Given the description of an element on the screen output the (x, y) to click on. 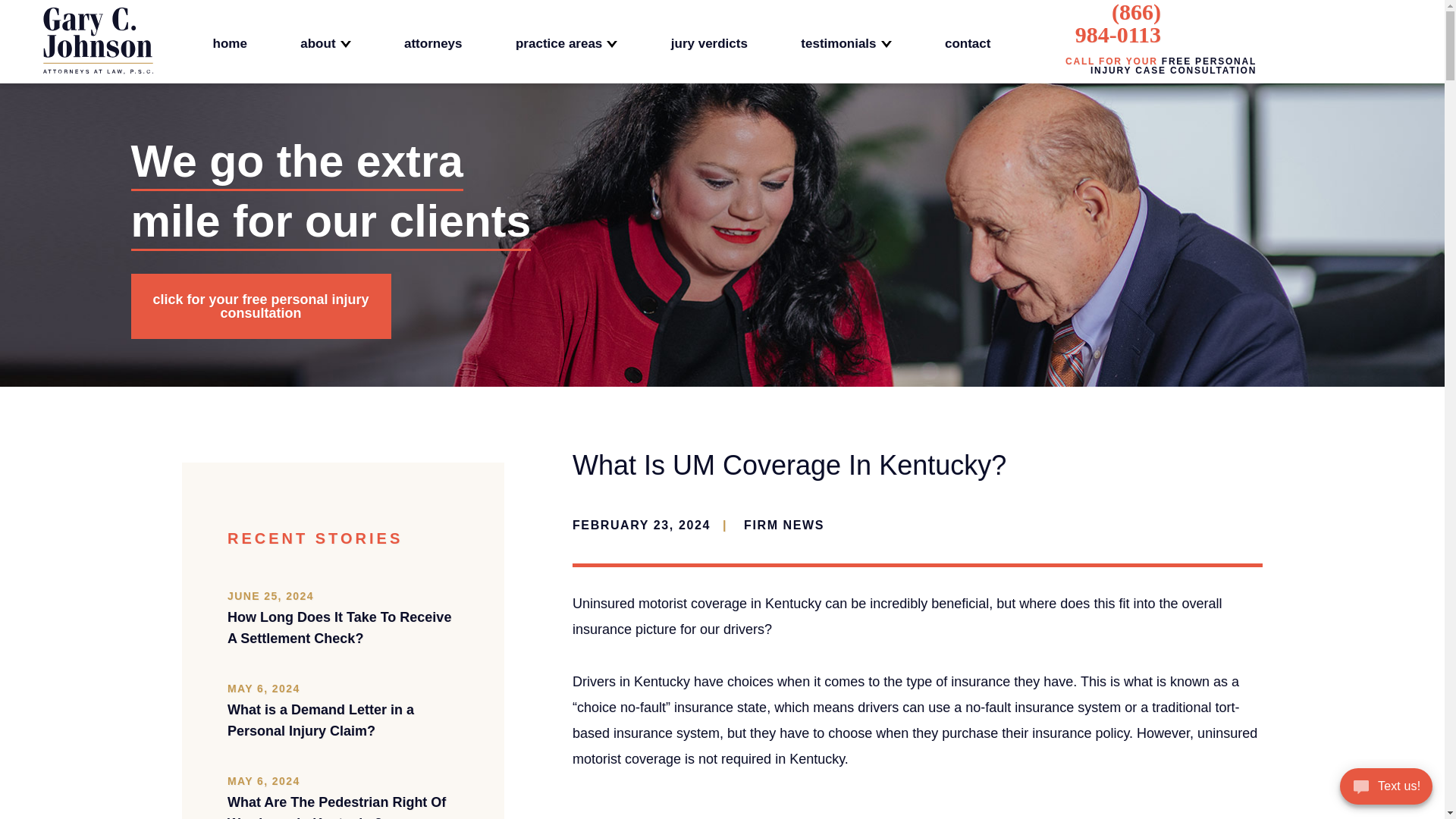
jury verdicts (709, 43)
contact (967, 43)
attorneys (433, 43)
home (229, 43)
testimonials (845, 42)
practice areas (566, 42)
about (324, 42)
